Given the description of an element on the screen output the (x, y) to click on. 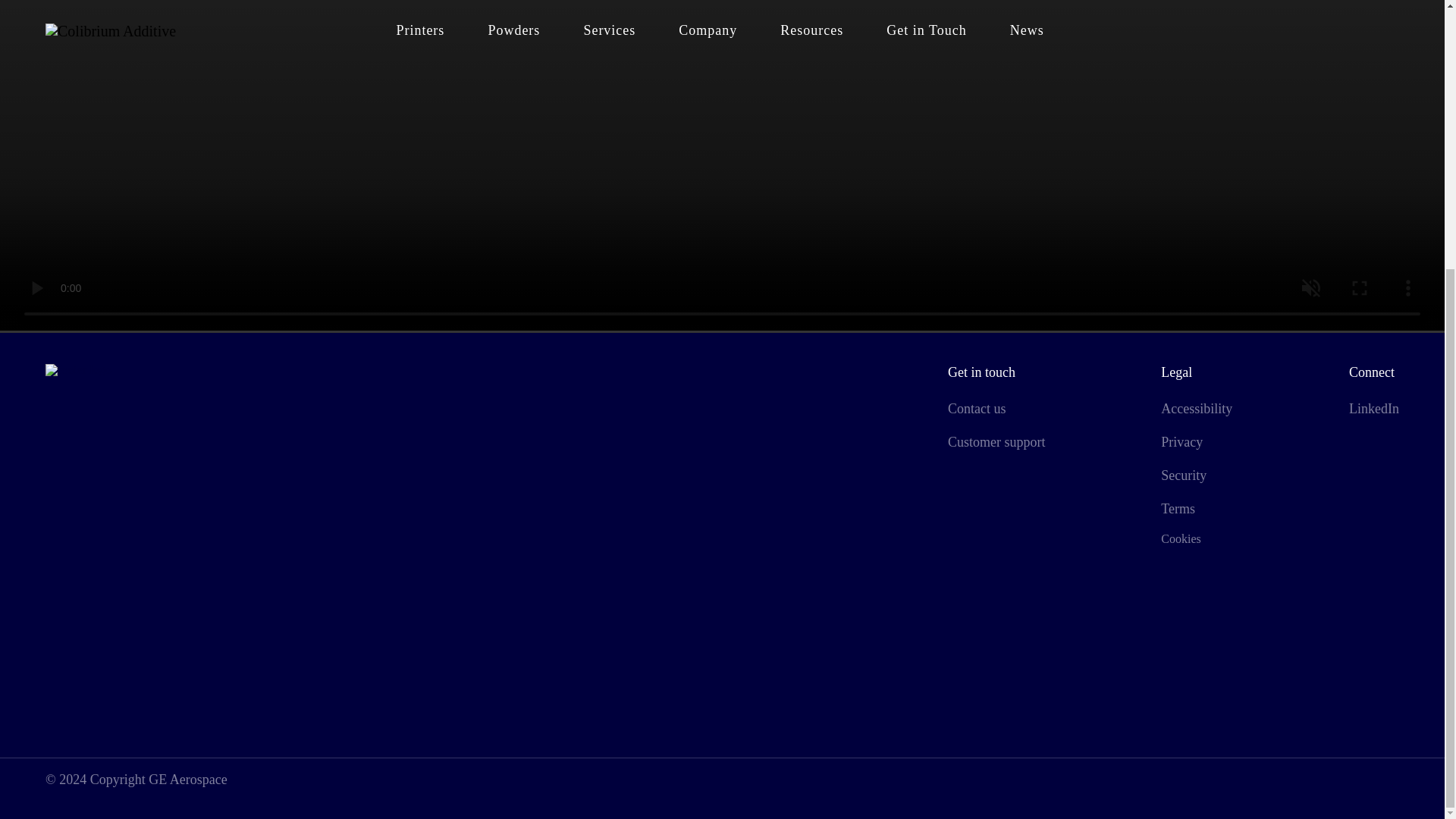
Privacy (1181, 441)
Customer support (996, 441)
Security (1183, 475)
Accessibility (1195, 408)
Cookies (1179, 537)
Contact us (976, 408)
LinkedIn (1374, 408)
Terms (1177, 508)
